Given the description of an element on the screen output the (x, y) to click on. 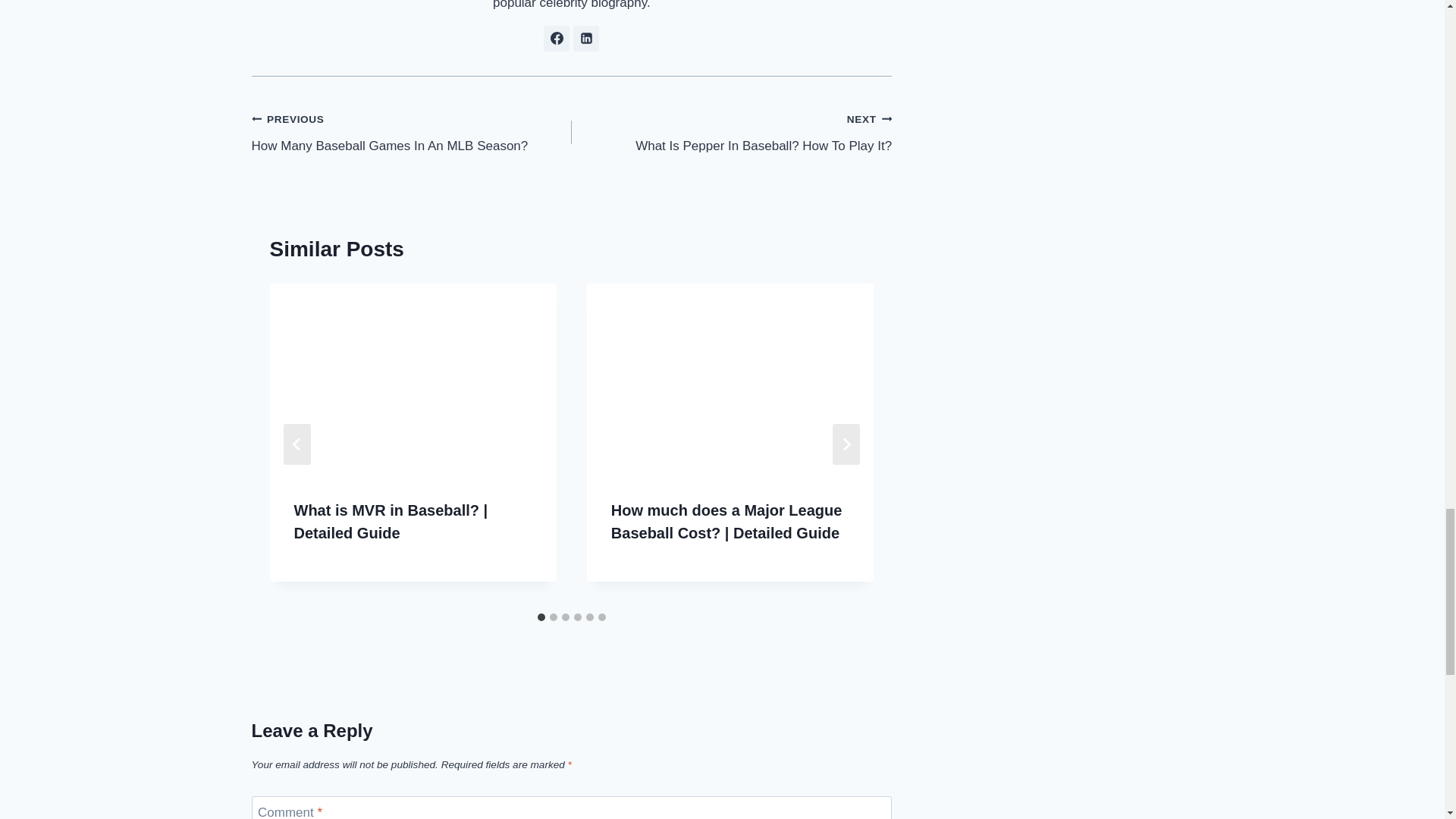
Follow Shubham on Linkedin (411, 132)
Follow Shubham on Facebook (585, 38)
